Given the description of an element on the screen output the (x, y) to click on. 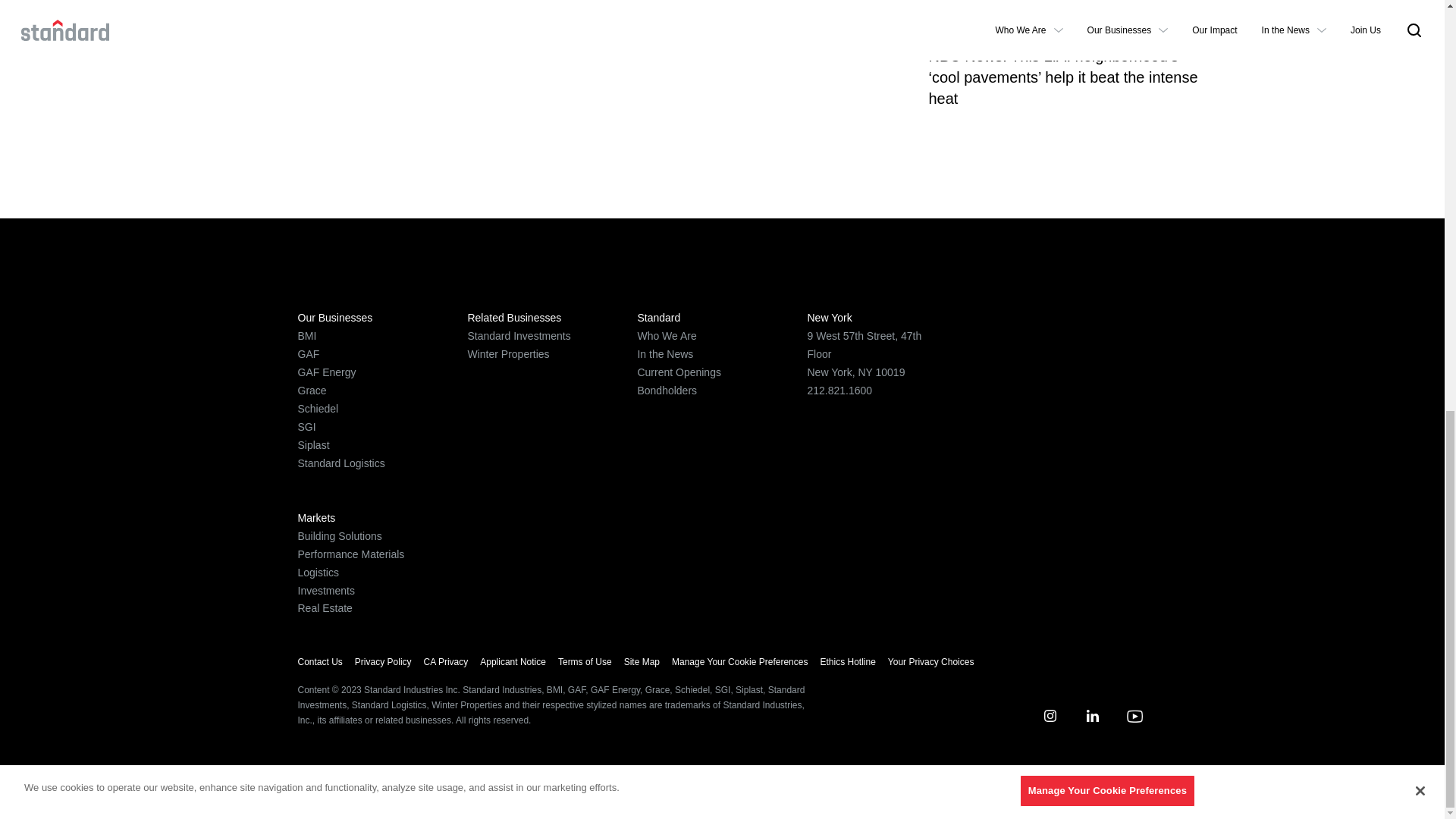
Grace (311, 390)
Standard Logistics (340, 463)
SGI (306, 426)
GAF (307, 354)
Schiedel (317, 408)
Standard Investments (518, 336)
Siplast (313, 444)
Winter Properties (507, 354)
GAF Energy (326, 372)
BMI (306, 336)
